Given the description of an element on the screen output the (x, y) to click on. 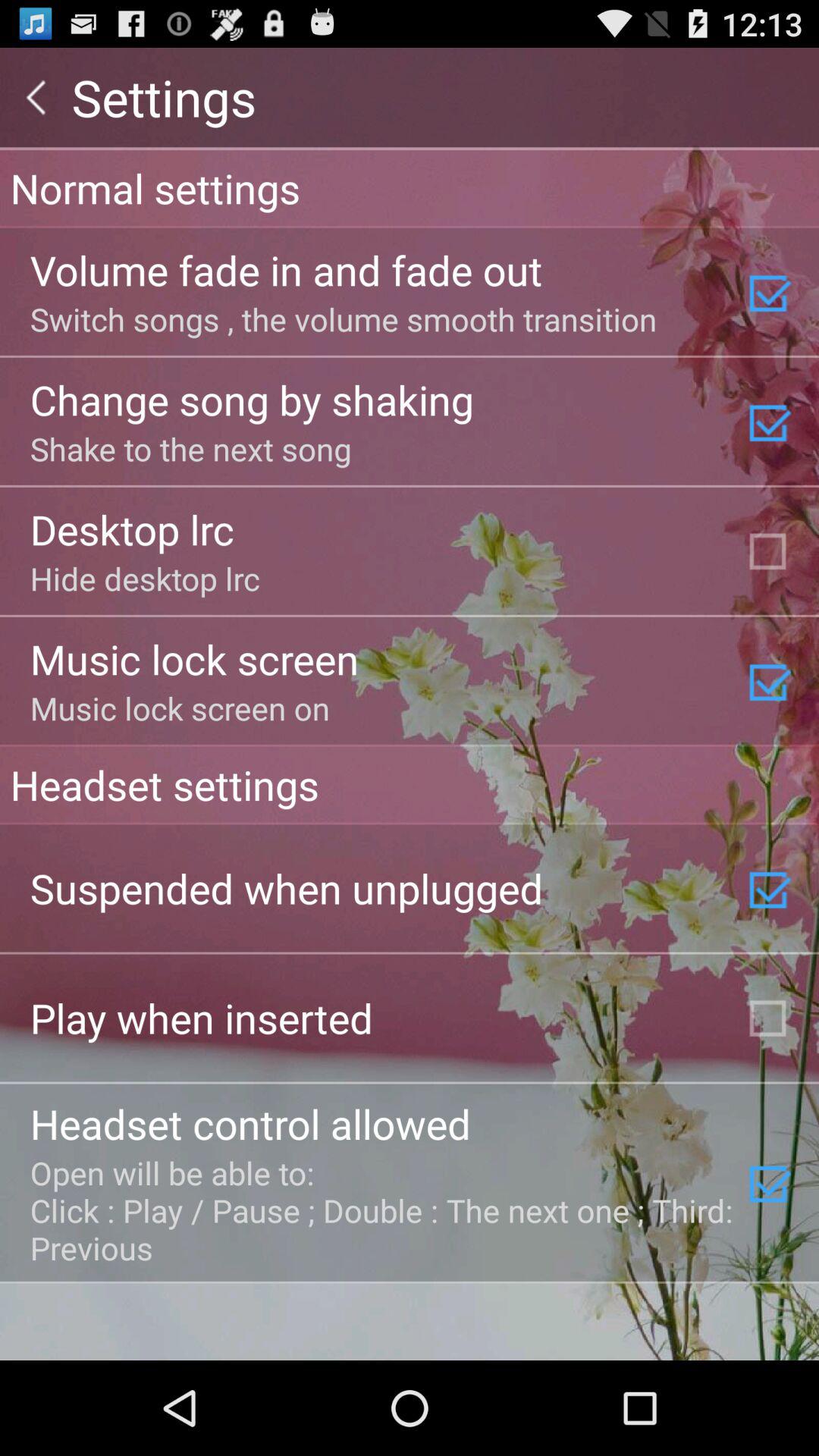
turn off the app below suspended when unplugged icon (201, 1017)
